Given the description of an element on the screen output the (x, y) to click on. 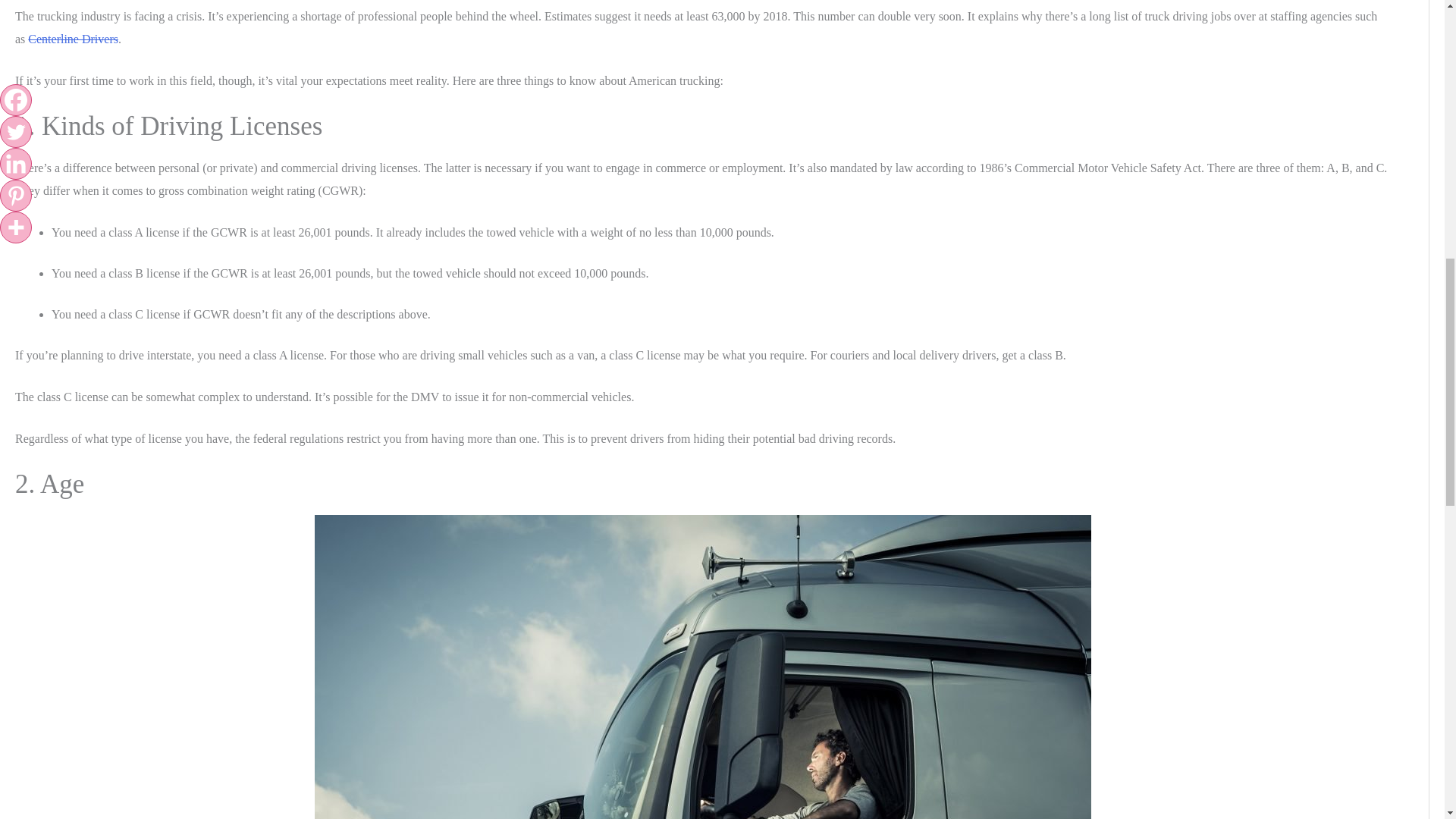
Centerline Drivers (72, 38)
Centerline Drivers (72, 38)
